Given the description of an element on the screen output the (x, y) to click on. 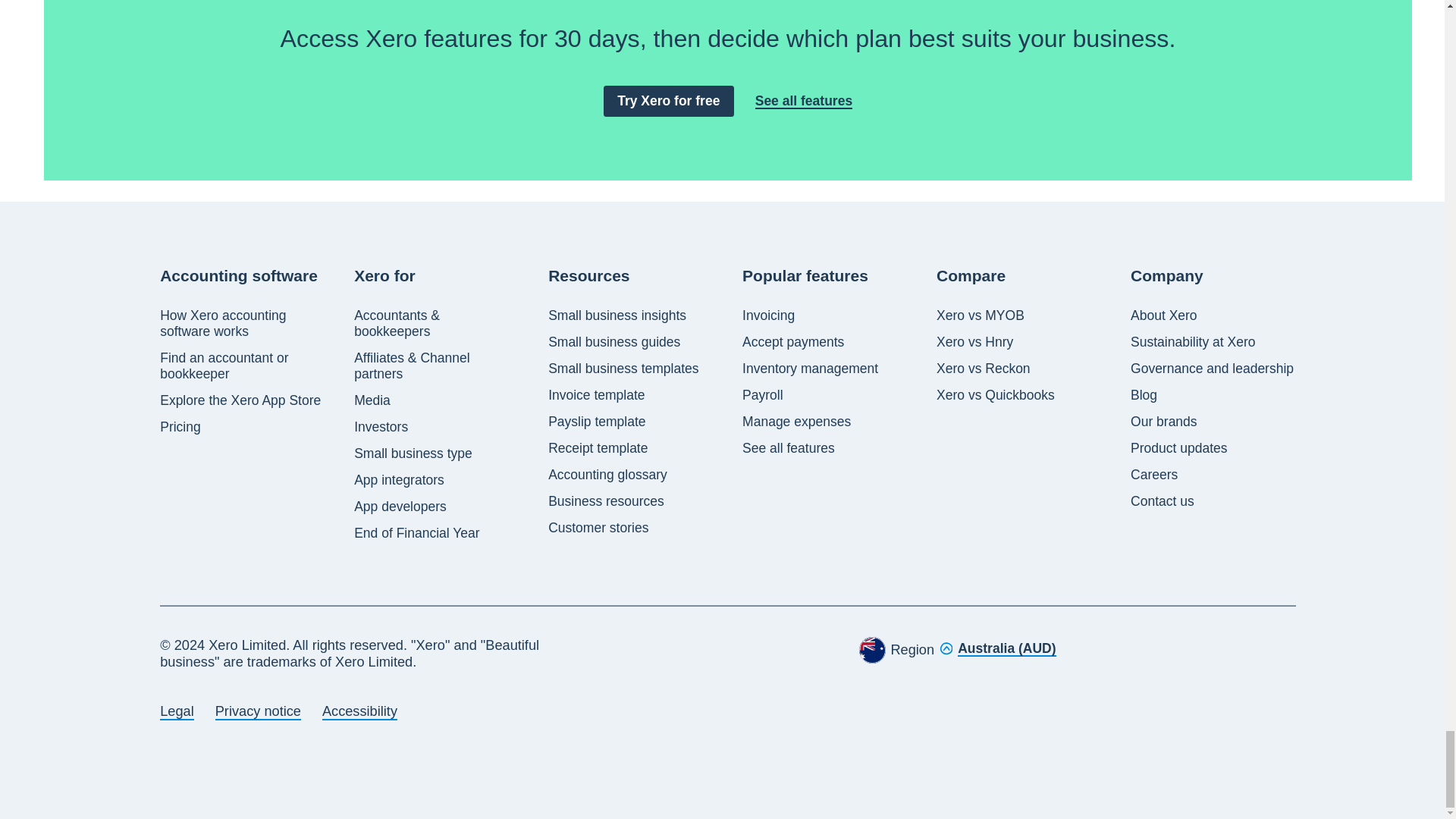
Small business insights (616, 315)
Media (371, 400)
Explore the Xero App Store (240, 400)
How Xero accounting software works (242, 323)
Small business guides (613, 342)
Pricing (180, 426)
Try Xero for free (668, 101)
Invoice template (596, 395)
App developers (399, 506)
Find an accountant or bookkeeper (242, 366)
